Given the description of an element on the screen output the (x, y) to click on. 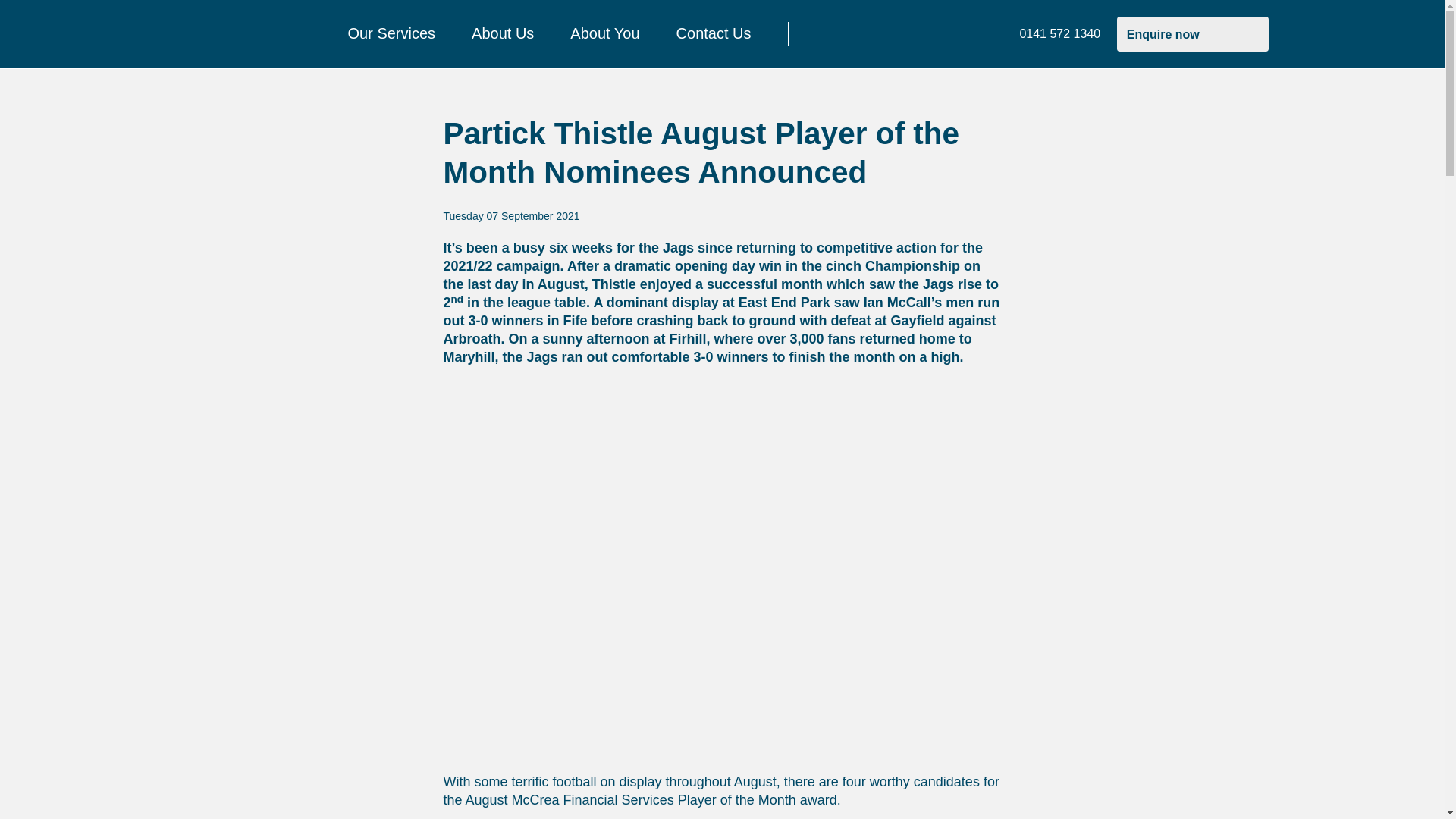
Contact Us (714, 34)
About You (604, 34)
Home (237, 33)
Logo link to homepage (237, 33)
About Us (502, 34)
Our Services (391, 34)
0141 572 1340 (1051, 34)
Enquire now (1192, 33)
Search toggle (818, 33)
